Given the description of an element on the screen output the (x, y) to click on. 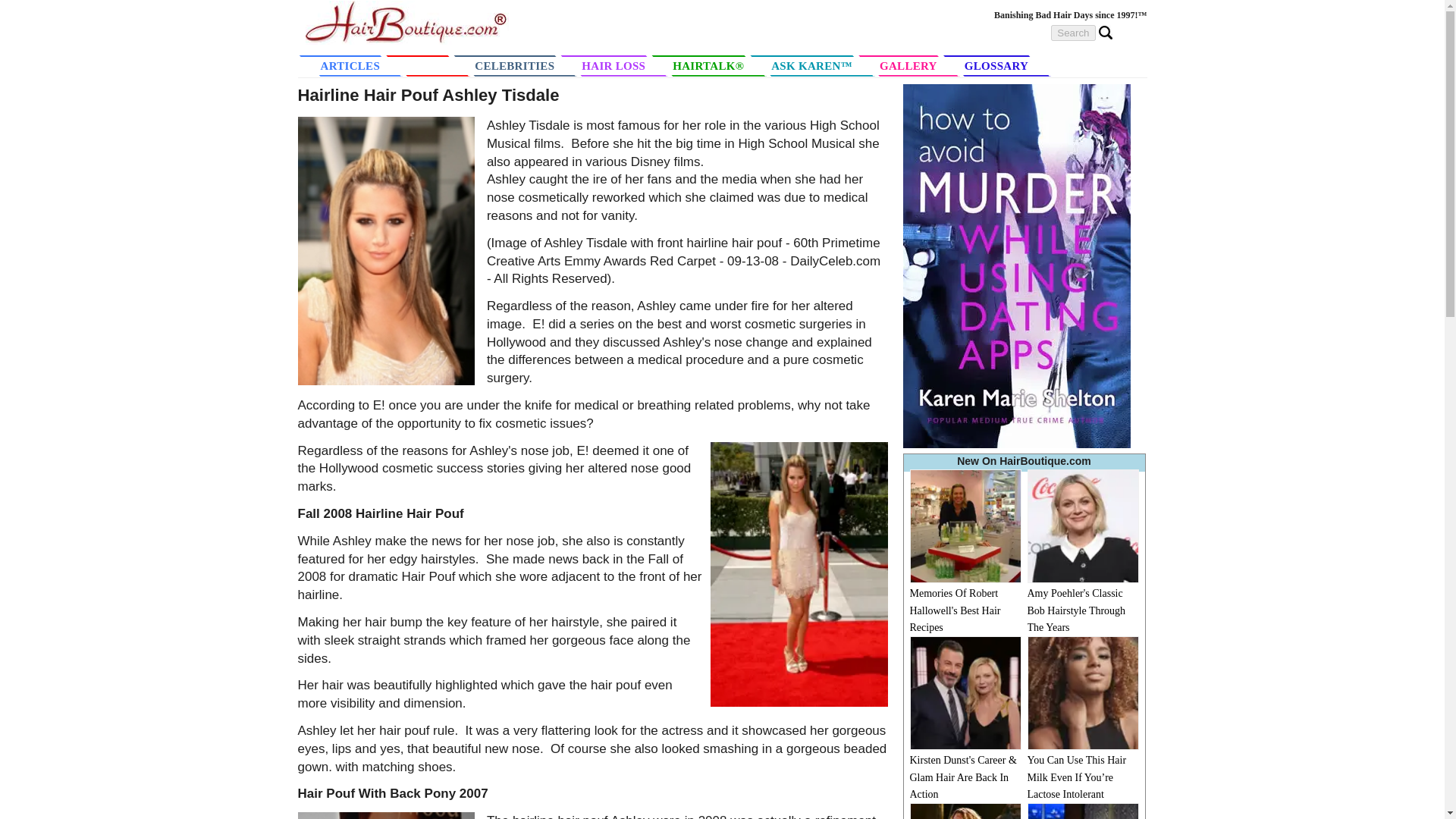
Search (1072, 32)
CELEBRITIES (523, 65)
GALLERY (917, 65)
Maggie Rogers' Rockin Hairstyle (966, 812)
ARTICLES (350, 65)
Maren Morris' W Curtain Bangs (1082, 812)
HAIR LOSS (622, 65)
GLOSSARY (1005, 65)
BLOGS (436, 65)
Click to go to the home page. (406, 40)
